Given the description of an element on the screen output the (x, y) to click on. 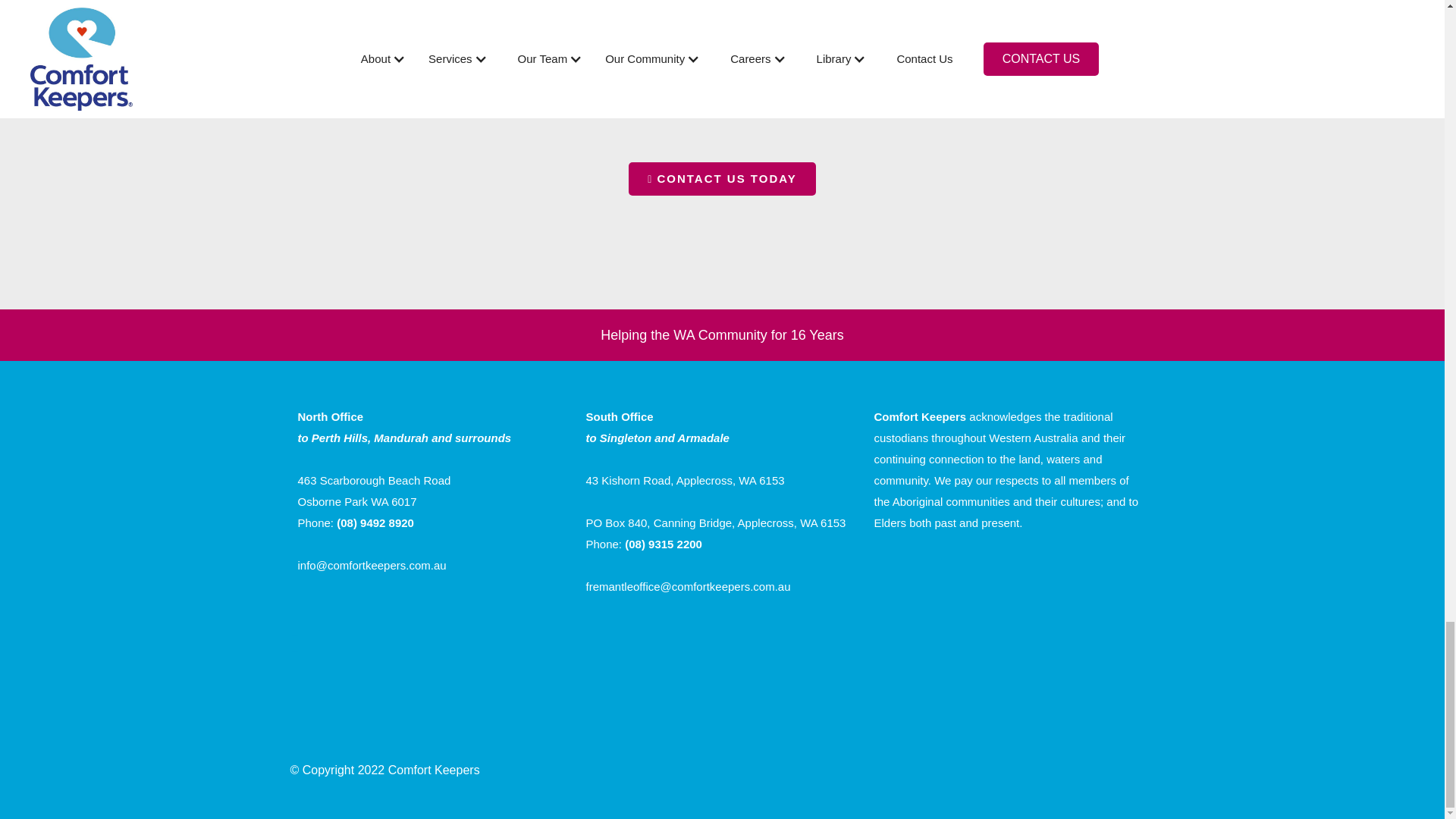
Facebook Like Button (958, 561)
